Given the description of an element on the screen output the (x, y) to click on. 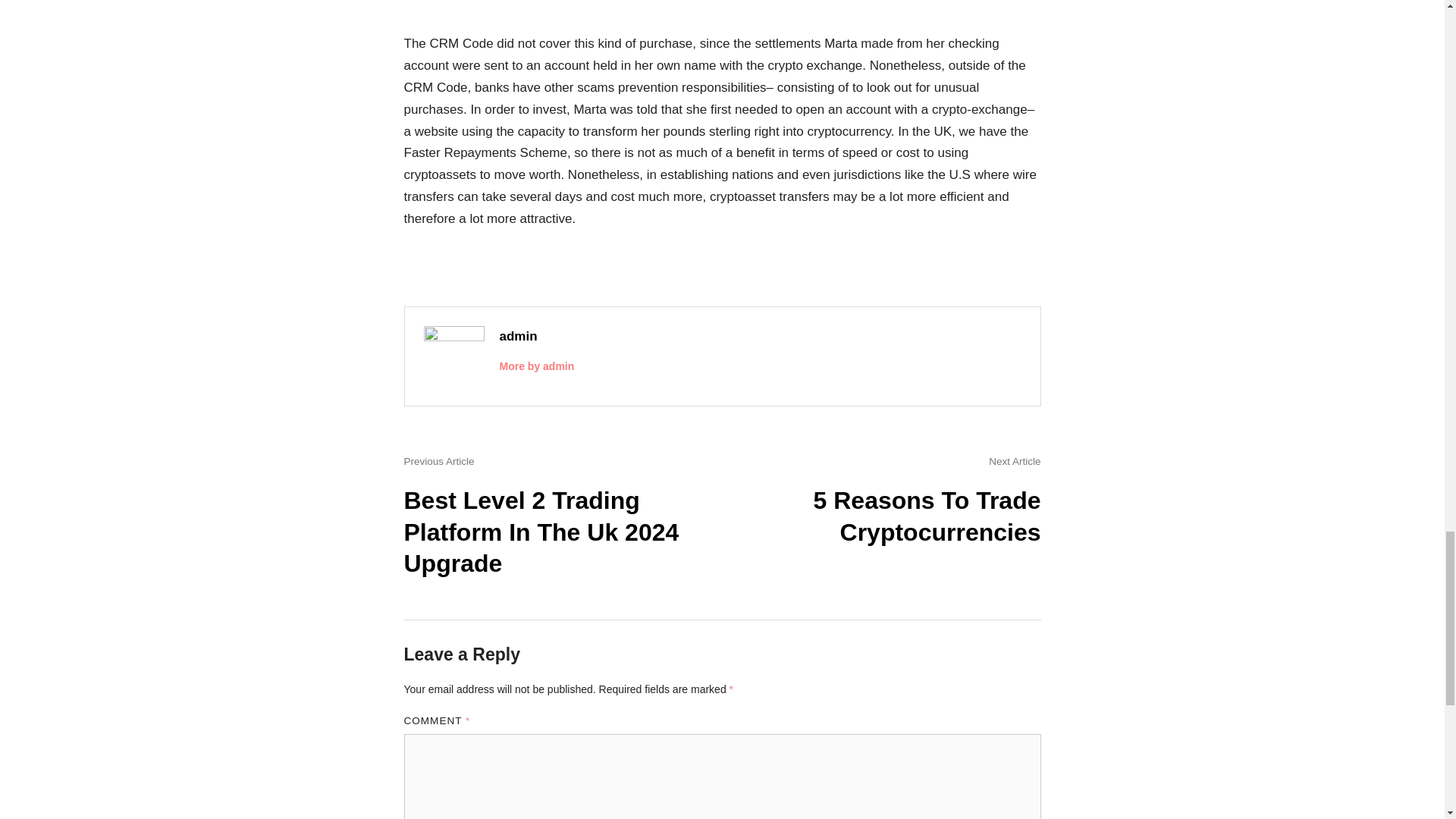
admin (518, 336)
More by admin (536, 366)
